Given the description of an element on the screen output the (x, y) to click on. 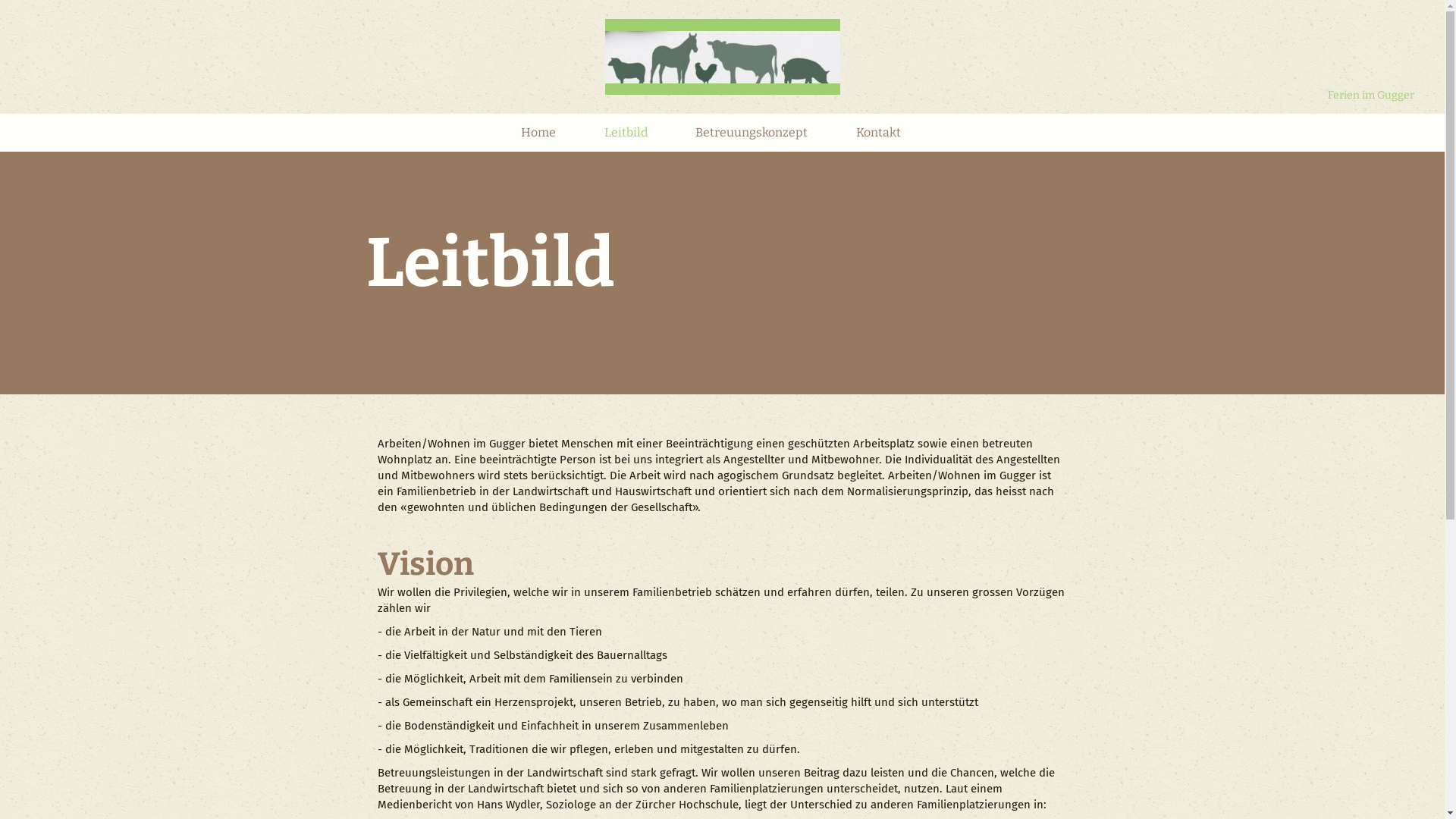
Betreuungskonzept Element type: text (751, 134)
Leitbild Element type: text (625, 134)
Kontakt Element type: text (878, 134)
Ferien im Gugger Element type: text (1370, 95)
Home Element type: text (537, 134)
